Given the description of an element on the screen output the (x, y) to click on. 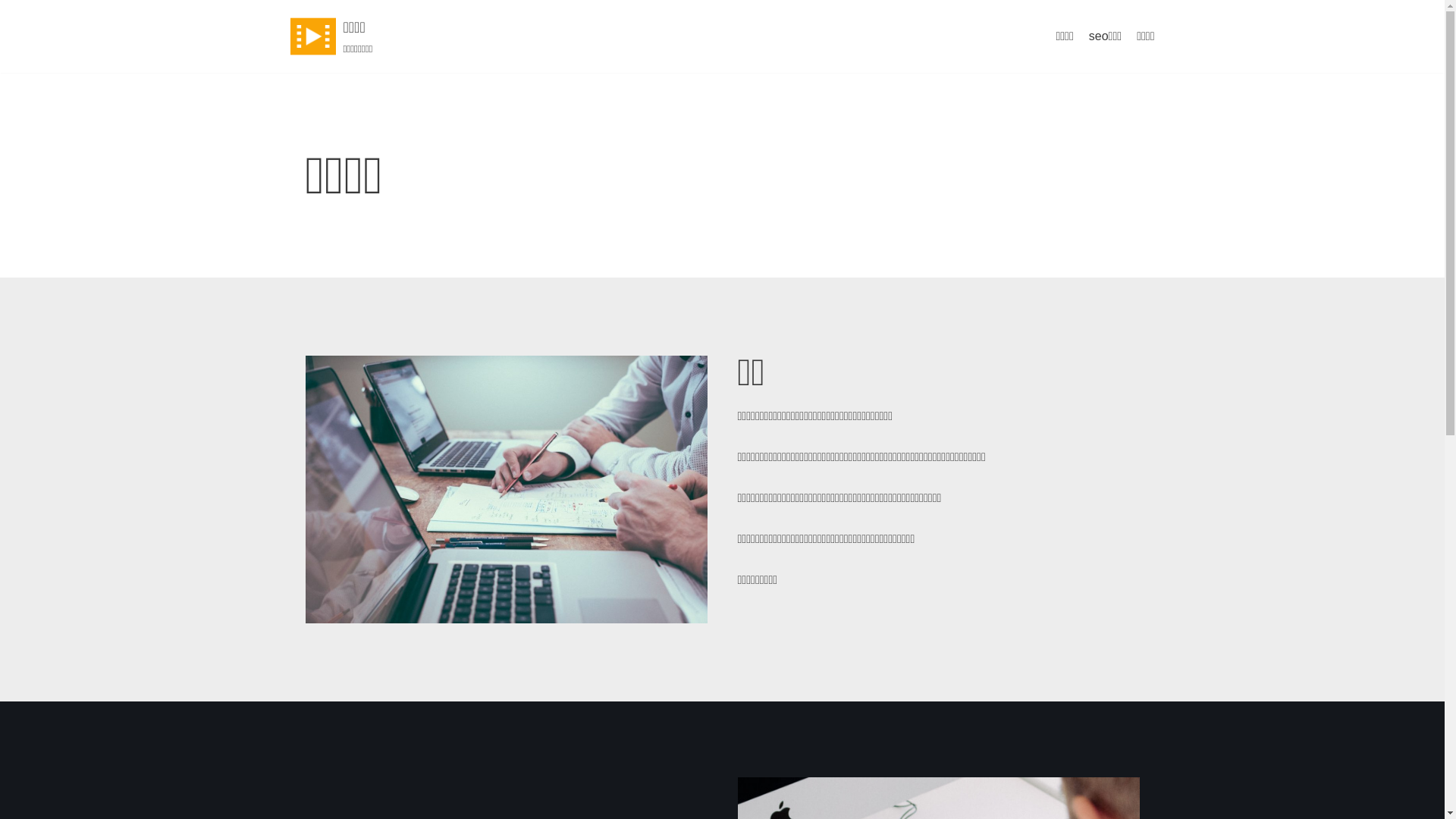
Skip to content Element type: text (15, 7)
